Given the description of an element on the screen output the (x, y) to click on. 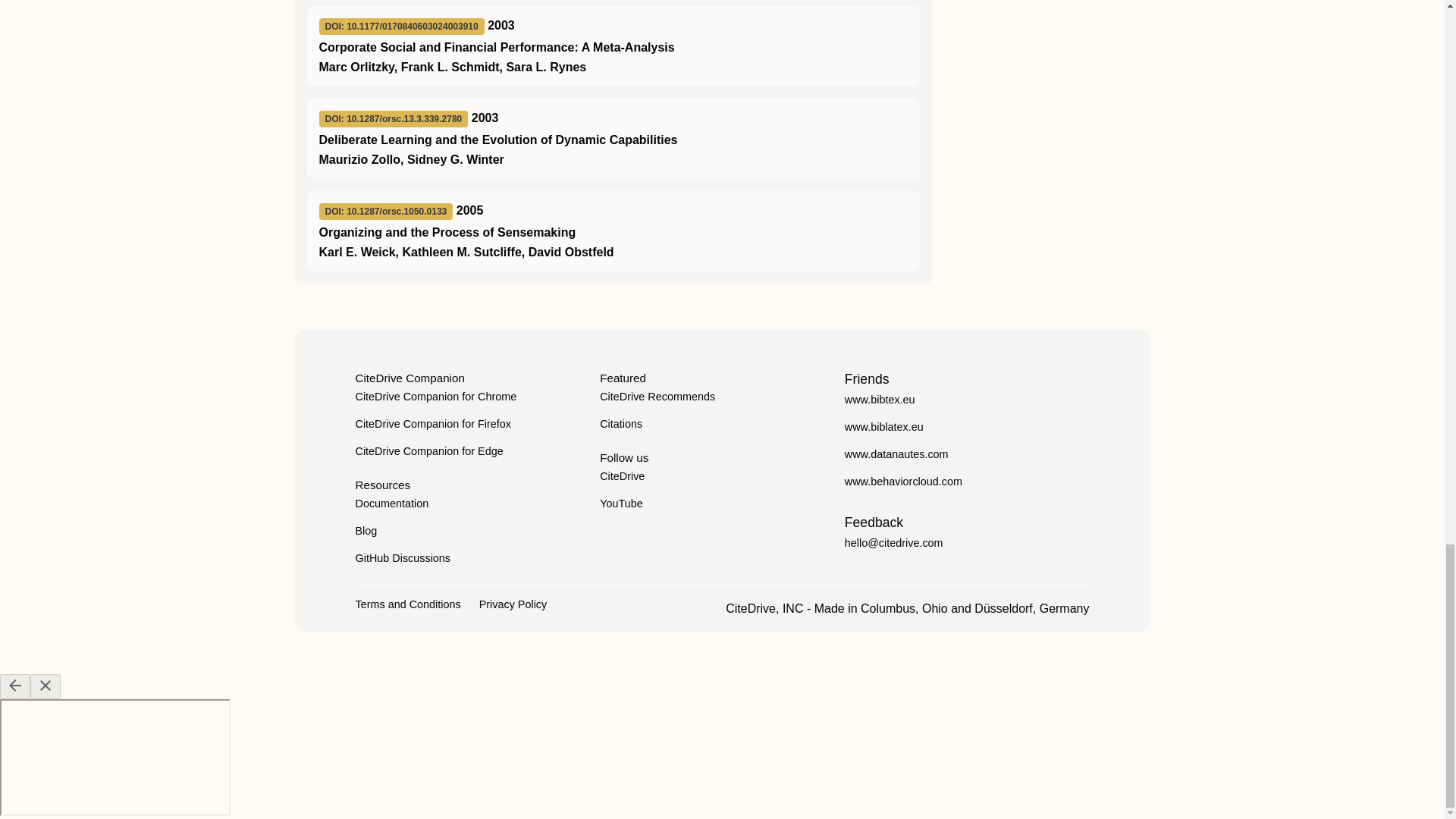
CiteDrive Recommends (656, 396)
YouTube (621, 503)
www.bibtex.eu (879, 399)
Documentation (391, 503)
GitHub Discussions (402, 558)
Blog (366, 530)
CiteDrive (622, 476)
Citations (620, 423)
www.biblatex.eu (883, 426)
CiteDrive Companion for Edge (428, 451)
